Given the description of an element on the screen output the (x, y) to click on. 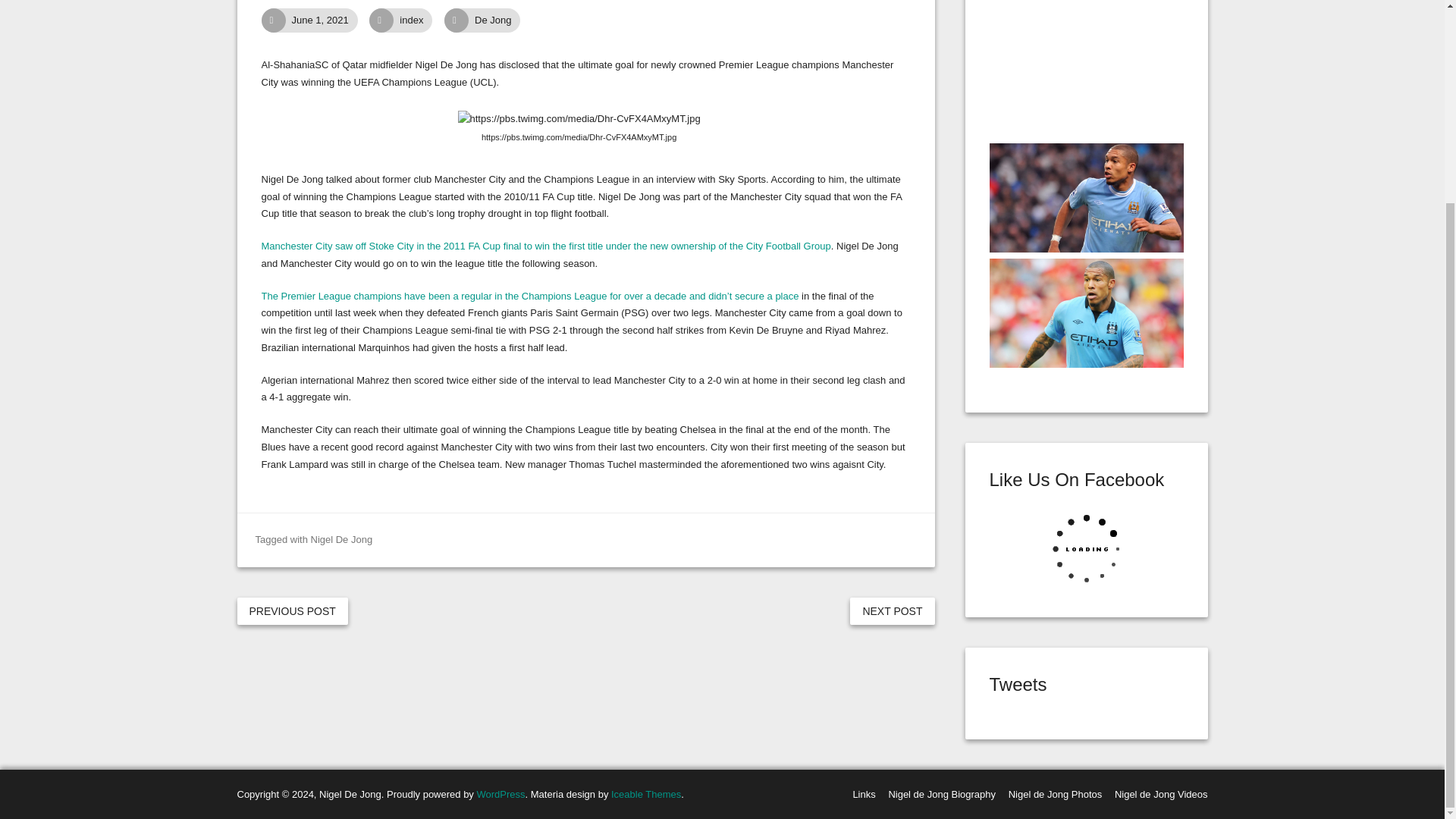
View all posts by index (420, 20)
Nigel de Jong Videos (1161, 794)
WordPress (500, 794)
UCL THE ULTIMATE GOAL FOR CITY (328, 20)
Nigel de Jong Biography (941, 794)
PREVIOUS POST (291, 610)
Nigel de Jong Photos (1055, 794)
Iceable Themes (646, 794)
Nigel De Jong (341, 539)
Semantic Personal Publishing Platform (500, 794)
